Given the description of an element on the screen output the (x, y) to click on. 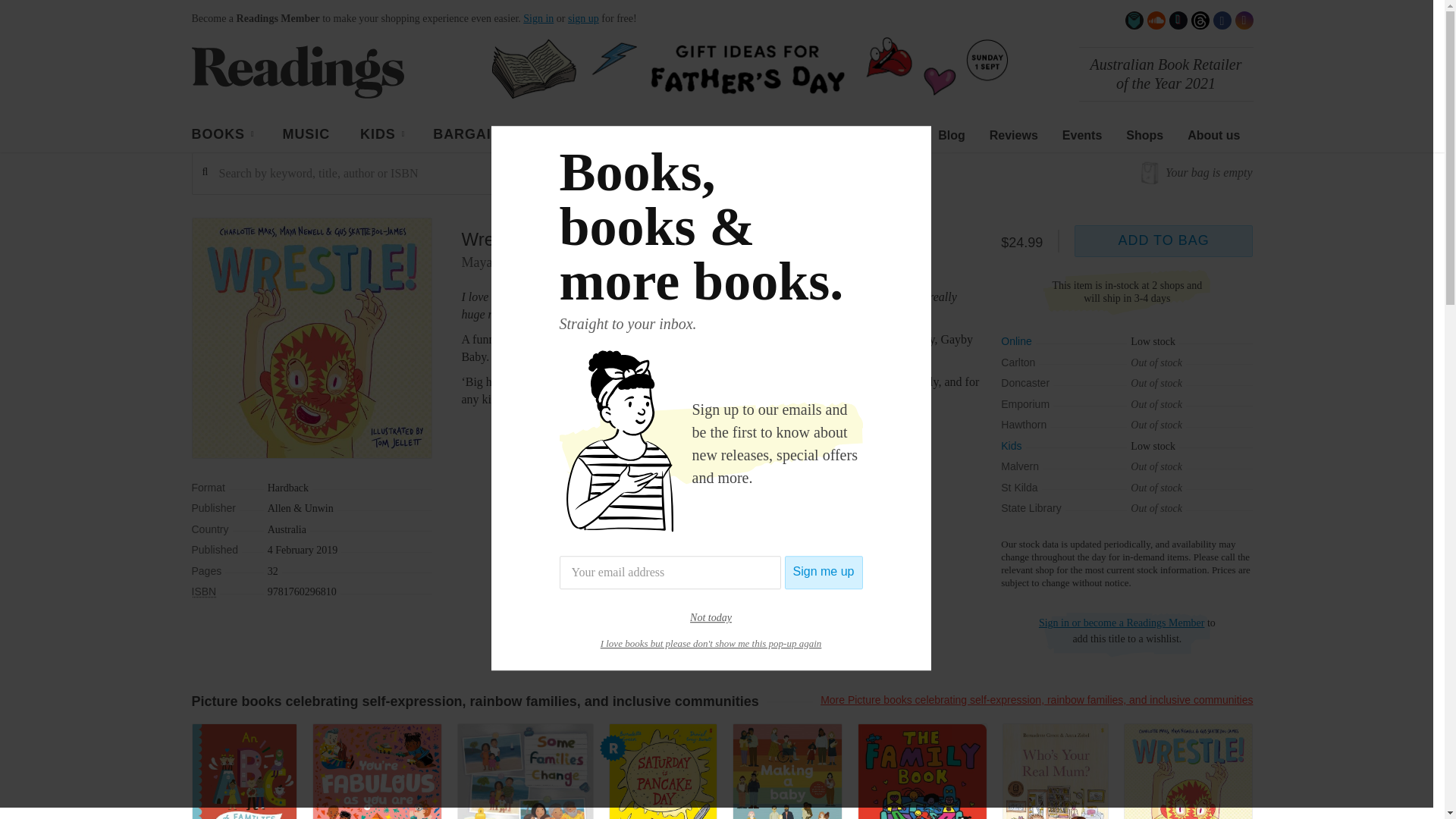
BOOKS (221, 136)
sign up (582, 18)
MUSIC (306, 135)
I love books but please don't show me this pop-up again (710, 643)
Sign in (537, 18)
International Standard Book Number (202, 591)
Sign me up (823, 572)
KIDS (381, 136)
Readings (297, 71)
Not today (711, 618)
